Given the description of an element on the screen output the (x, y) to click on. 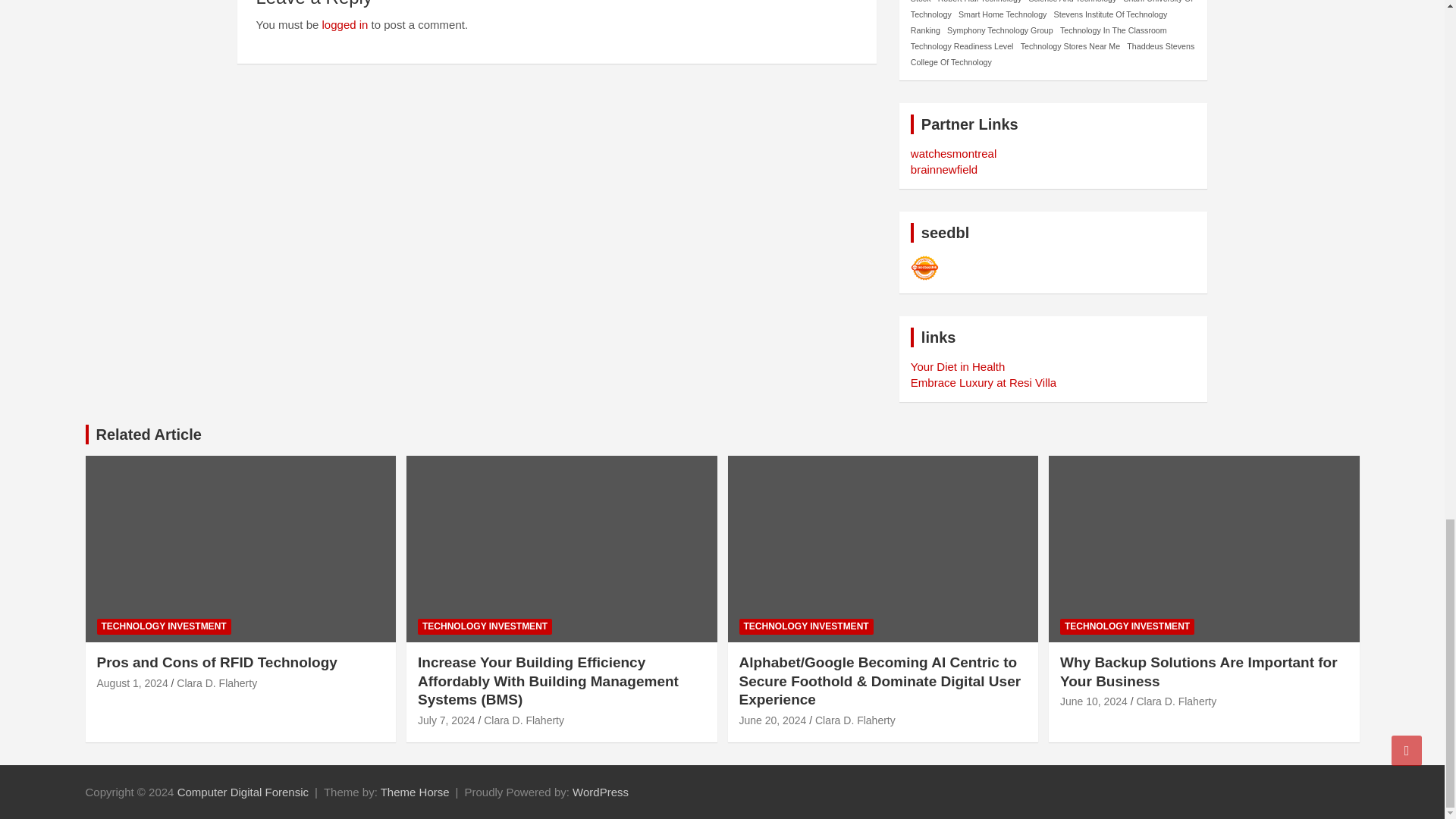
Computer Digital Forensic (242, 791)
Why Backup Solutions Are Important for Your Business (1092, 701)
Pros and Cons of RFID Technology (132, 683)
WordPress (600, 791)
logged in (344, 24)
Theme Horse (414, 791)
Seedbacklink (925, 267)
